Given the description of an element on the screen output the (x, y) to click on. 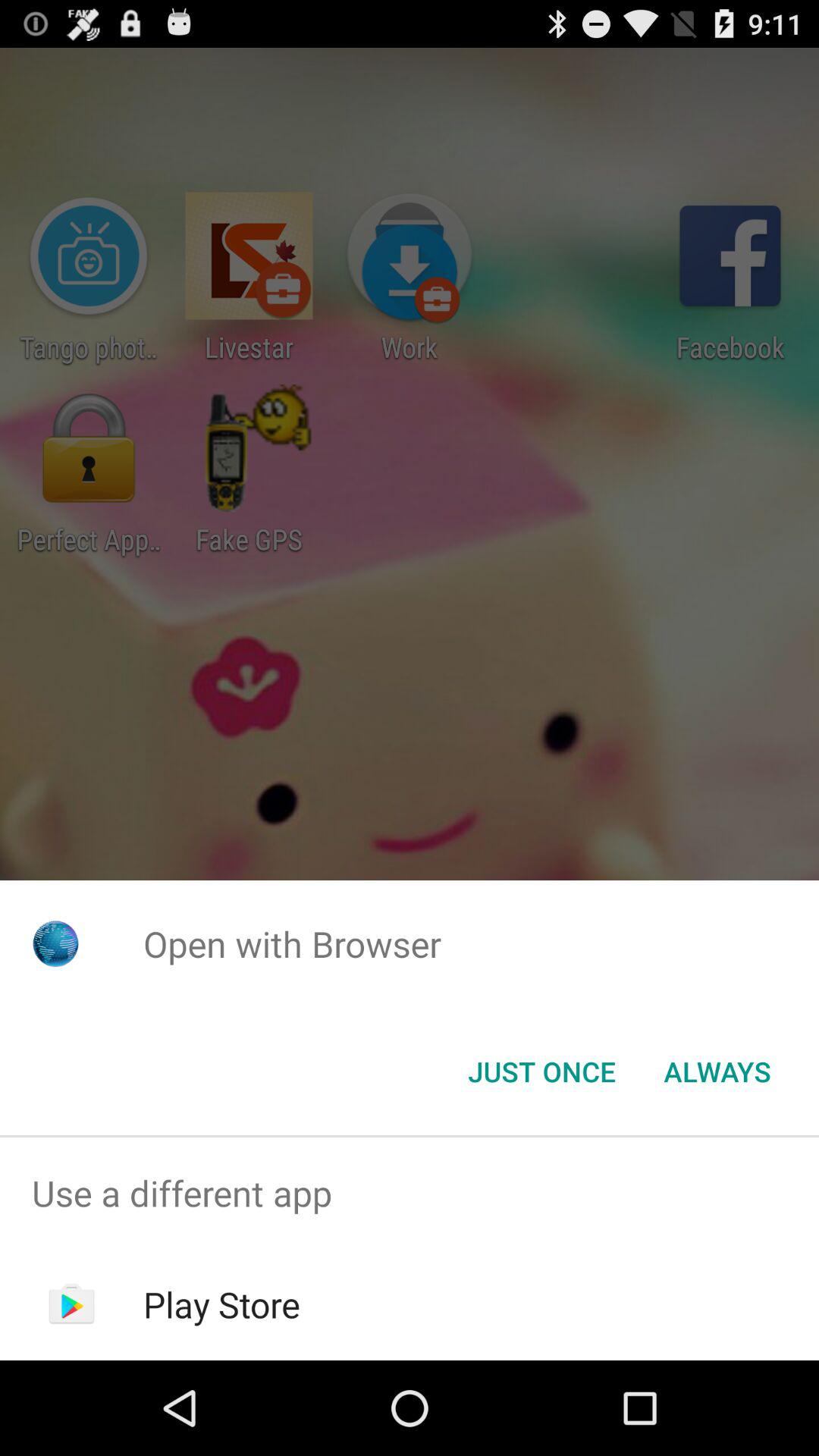
turn off the item above the play store item (409, 1192)
